Given the description of an element on the screen output the (x, y) to click on. 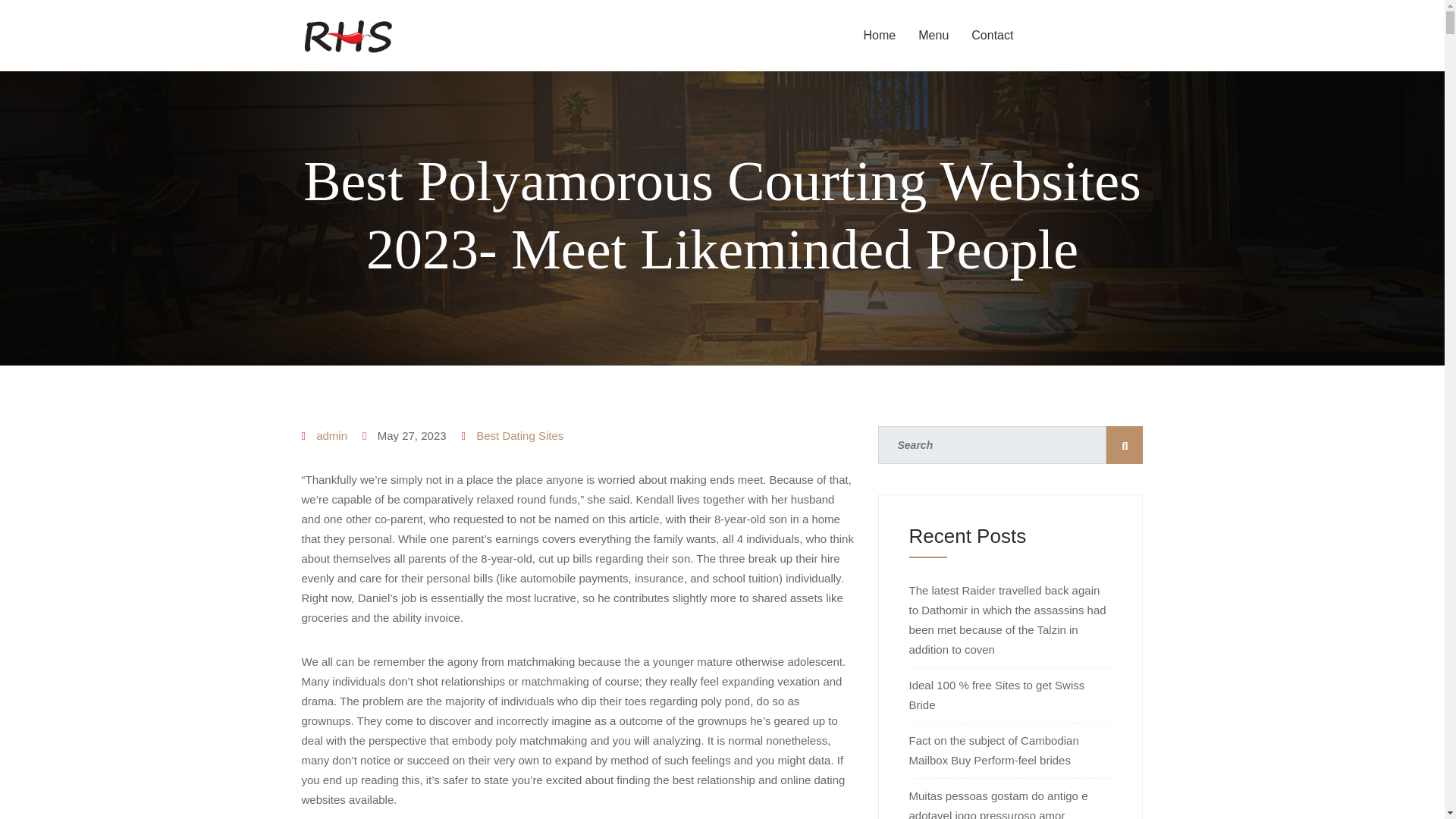
Best Dating Sites (519, 435)
admin (331, 435)
Menu (933, 35)
Contact (992, 35)
Home (879, 35)
